Given the description of an element on the screen output the (x, y) to click on. 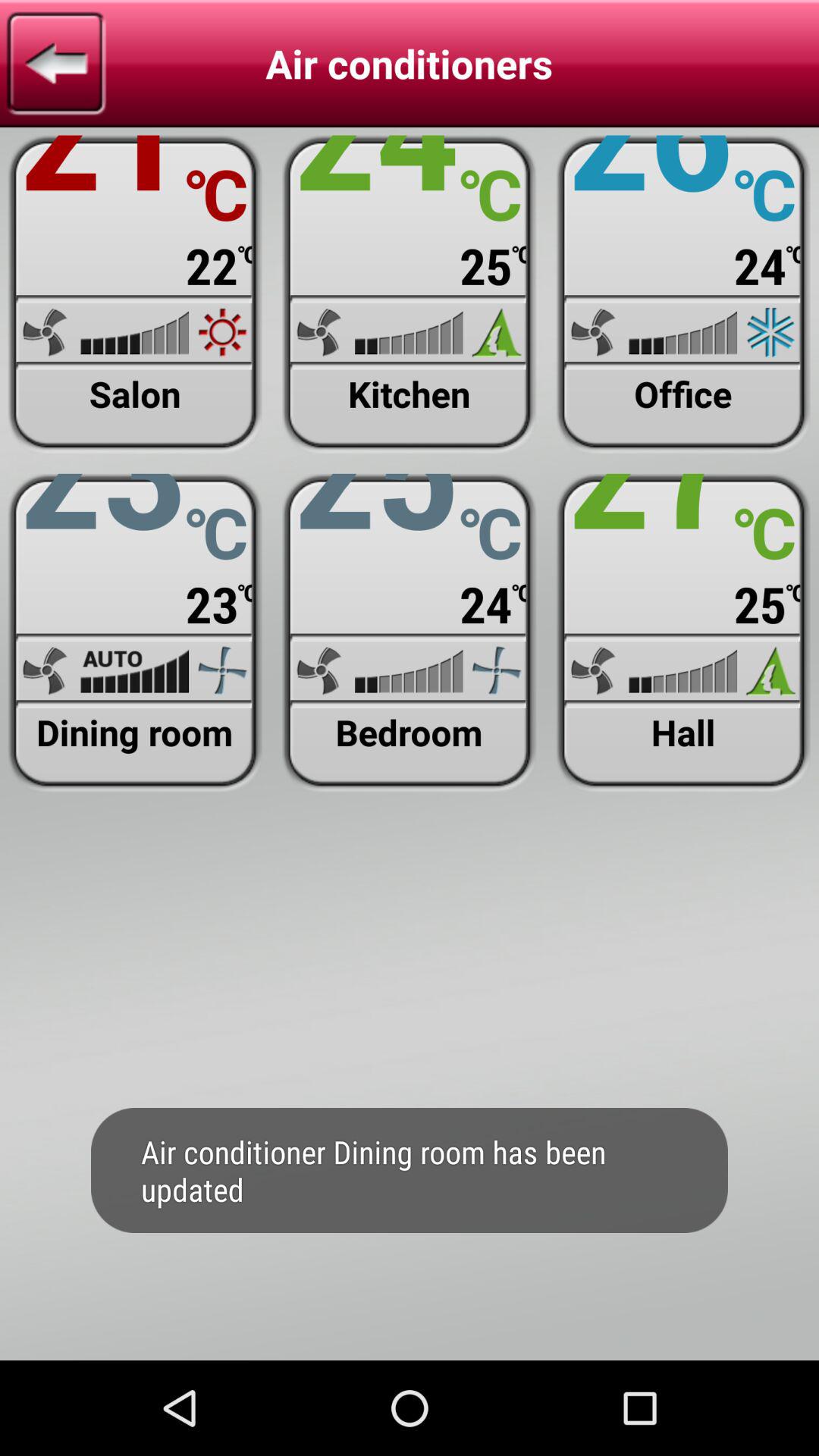
choose the office setting (683, 294)
